Given the description of an element on the screen output the (x, y) to click on. 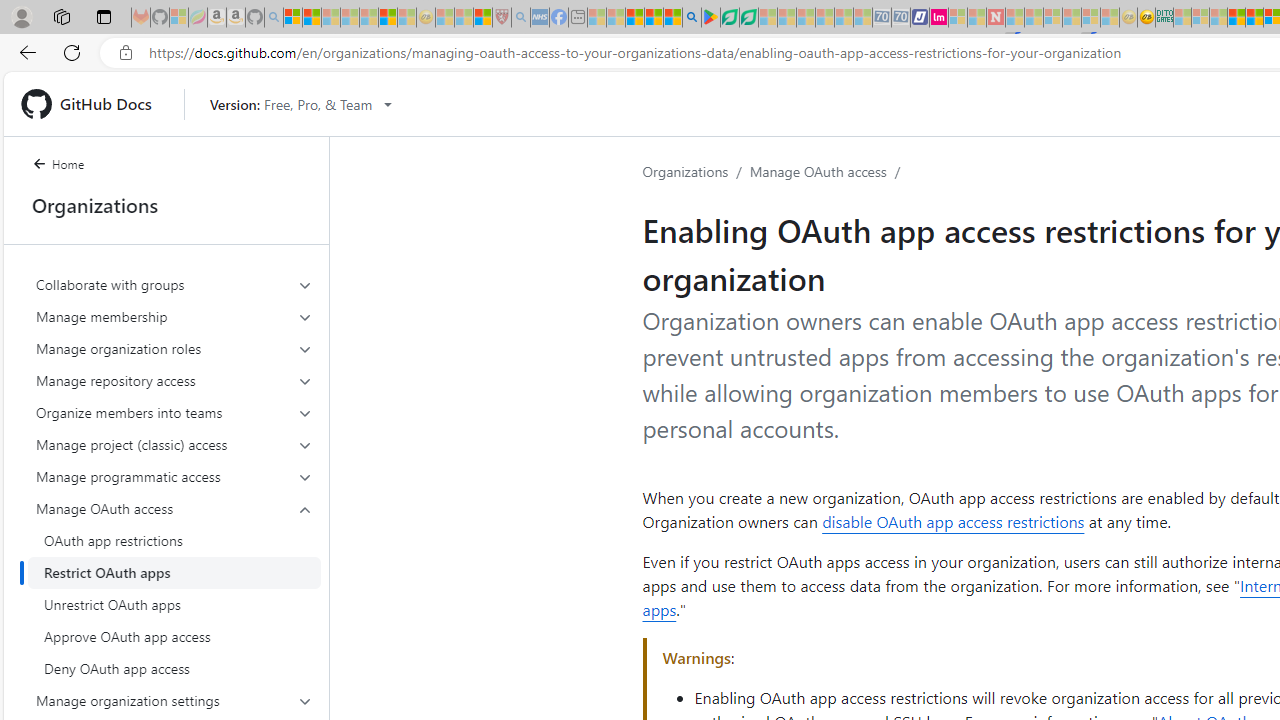
Organize members into teams (174, 412)
Manage project (classic) access (174, 444)
Approve OAuth app access (174, 636)
Manage membership (174, 316)
Organize members into teams (174, 412)
Restrict OAuth apps (174, 572)
